Given the description of an element on the screen output the (x, y) to click on. 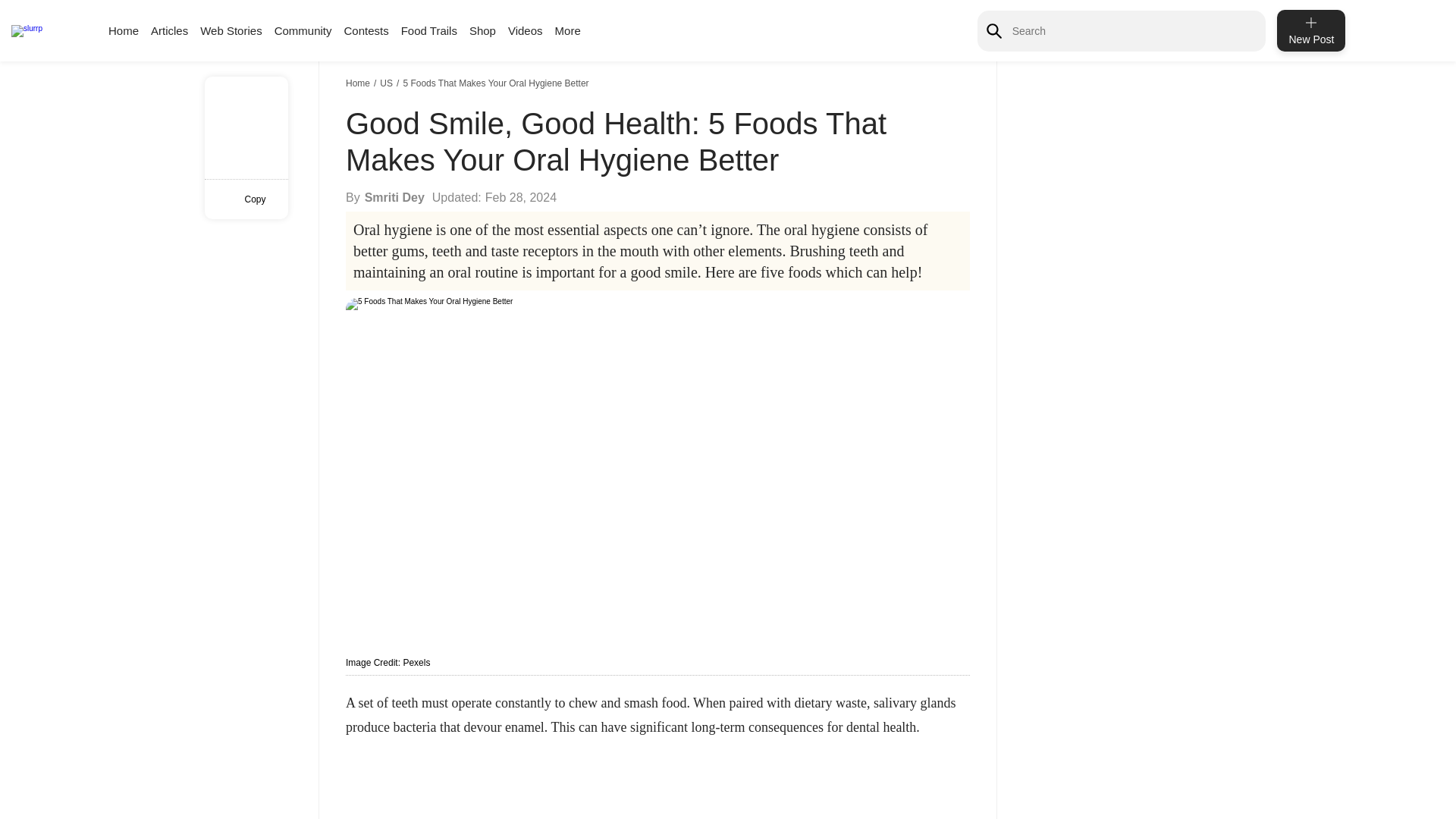
Home (360, 82)
Web Stories (231, 30)
Videos (525, 30)
Food Trails (429, 30)
Home (122, 30)
Community (303, 30)
US (388, 82)
Contests (365, 30)
Shop (482, 30)
Articles (169, 30)
New Post (1310, 30)
